Given the description of an element on the screen output the (x, y) to click on. 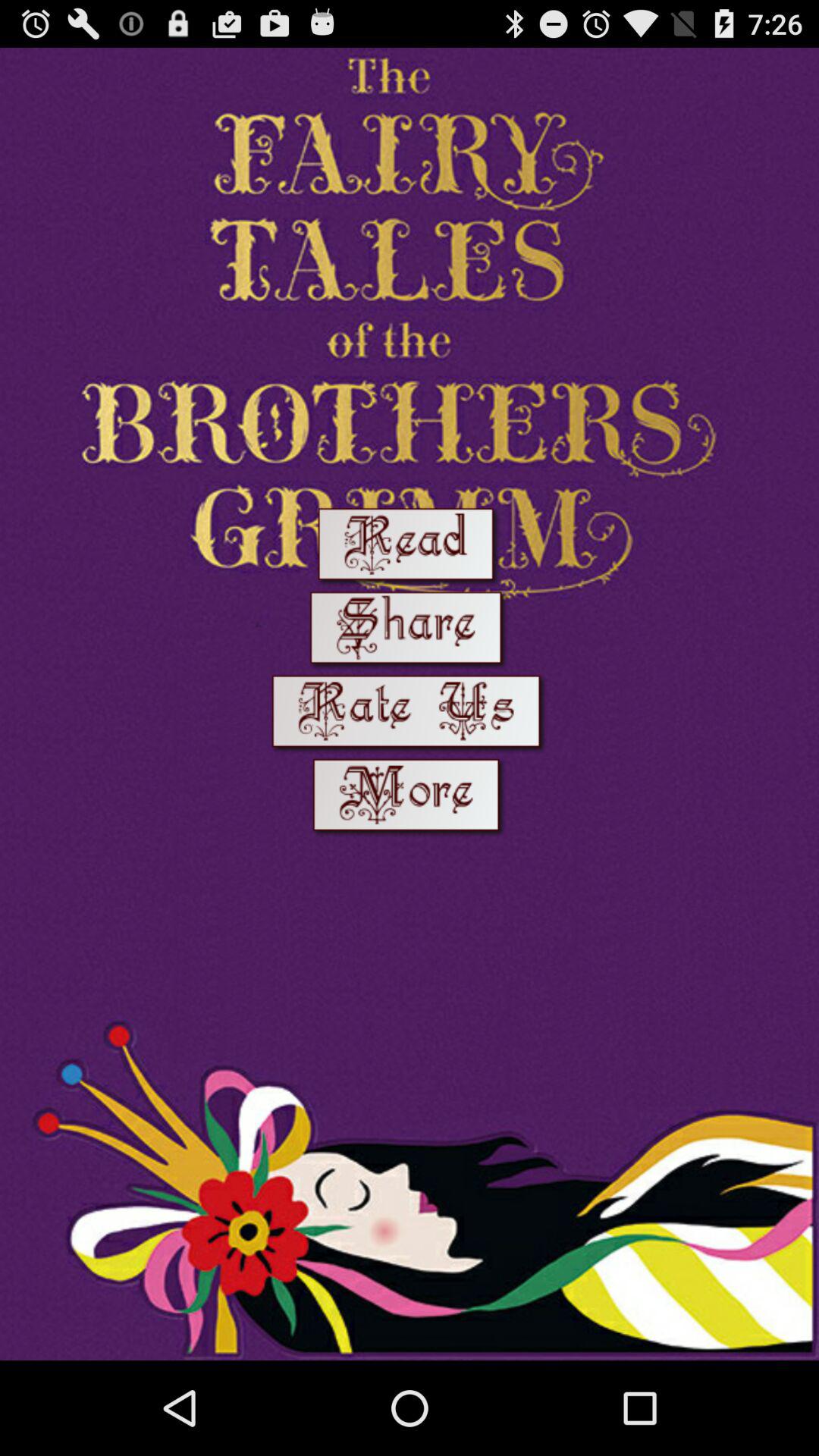
select read option (408, 547)
